Given the description of an element on the screen output the (x, y) to click on. 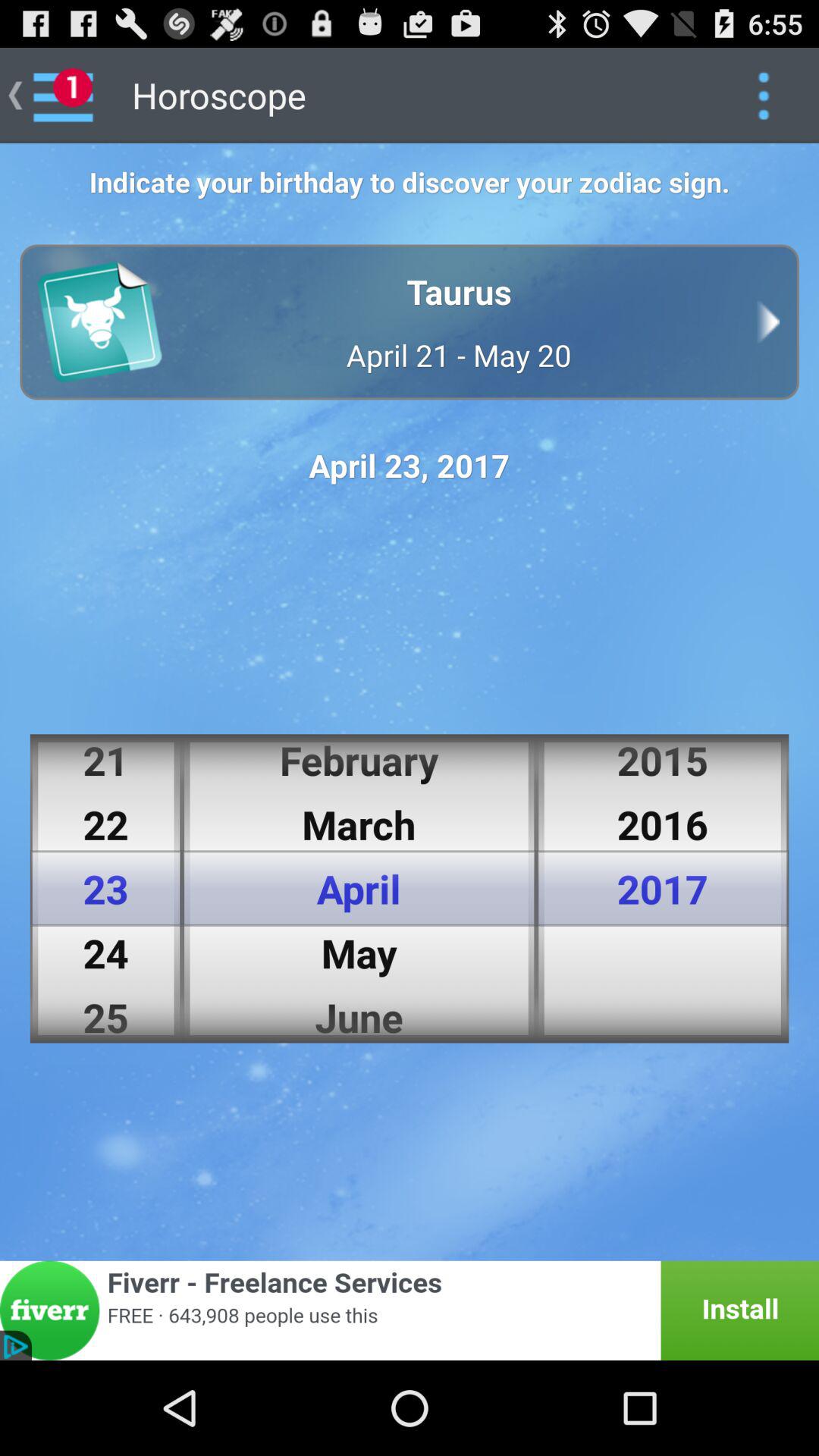
click the app above indicate your birthday (763, 95)
